Given the description of an element on the screen output the (x, y) to click on. 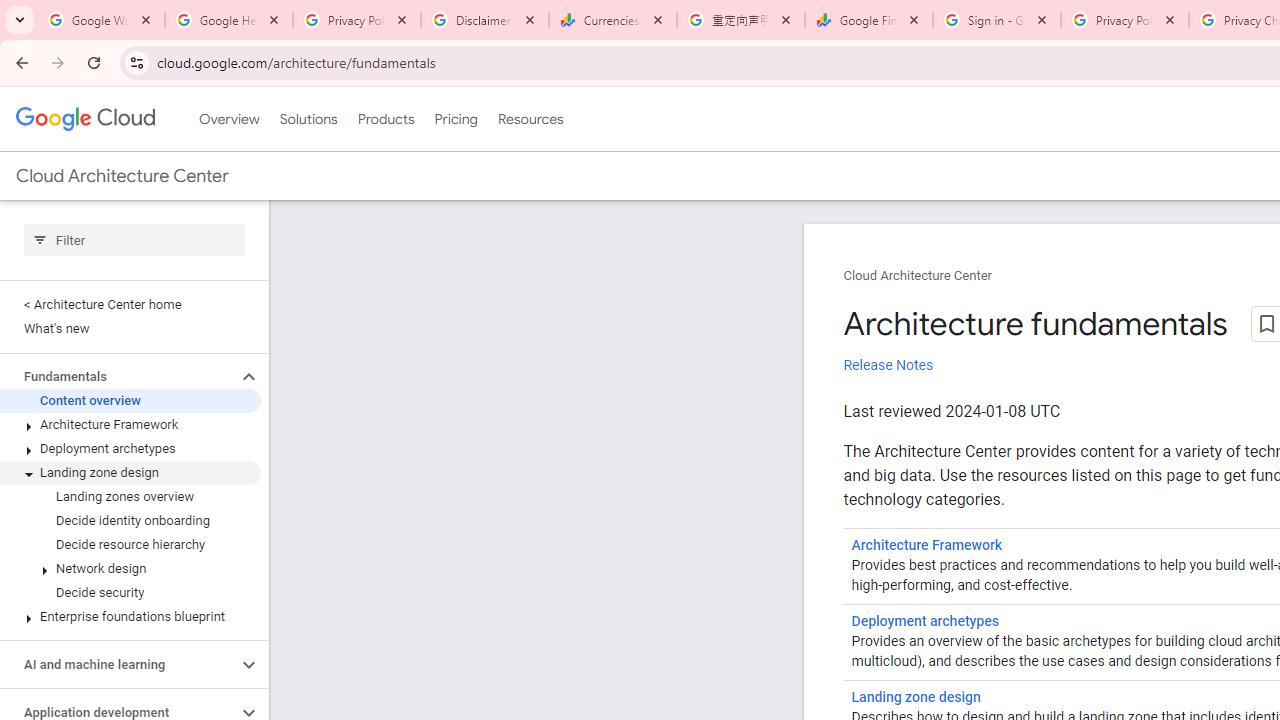
Pricing (455, 119)
Network design (130, 569)
Decide identity onboarding (130, 520)
Google Workspace Admin Community (101, 20)
< Architecture Center home (130, 304)
Landing zone design (915, 697)
Google Cloud (84, 118)
Cloud Architecture Center (917, 276)
